Given the description of an element on the screen output the (x, y) to click on. 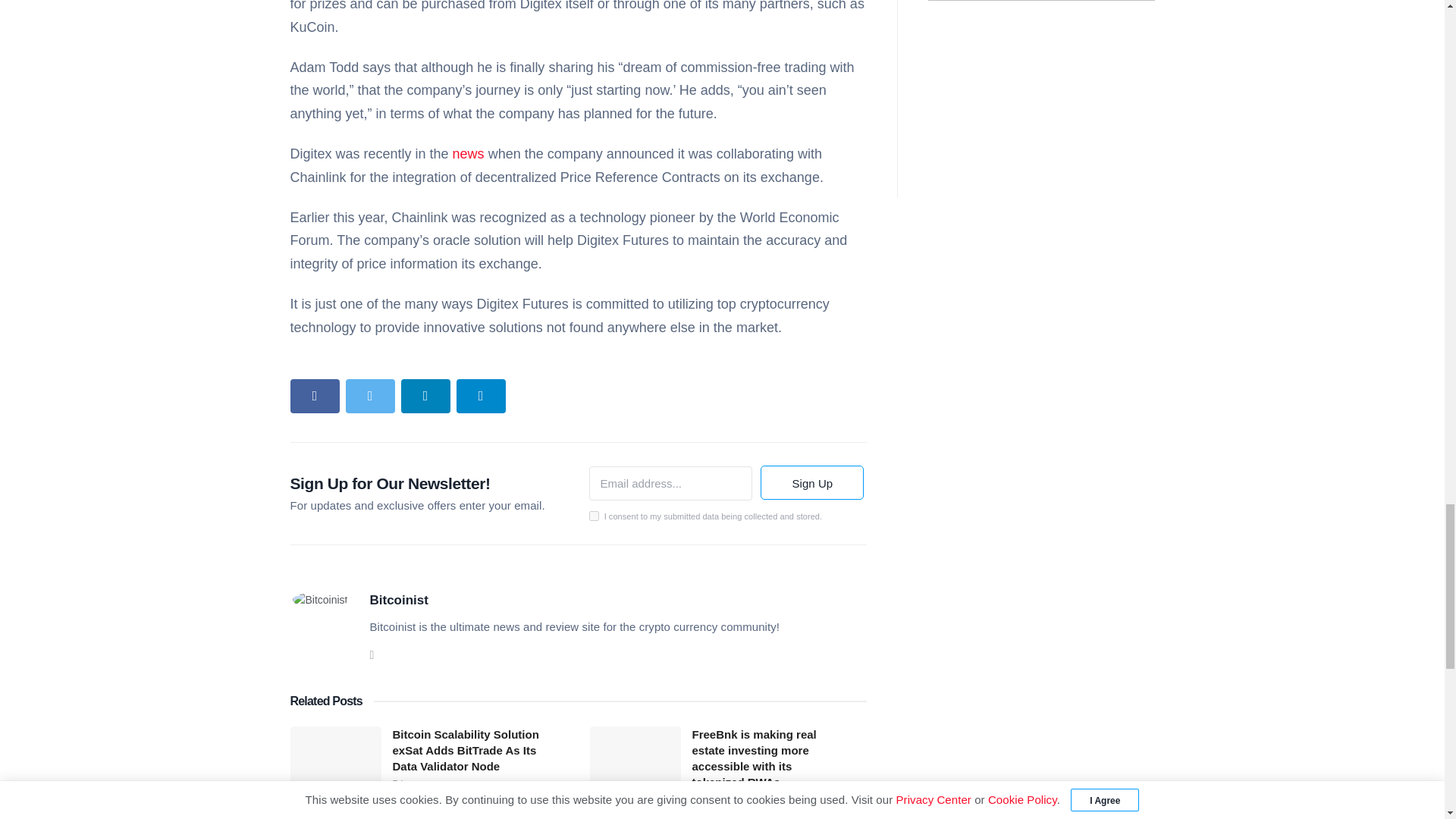
1 (593, 515)
